Given the description of an element on the screen output the (x, y) to click on. 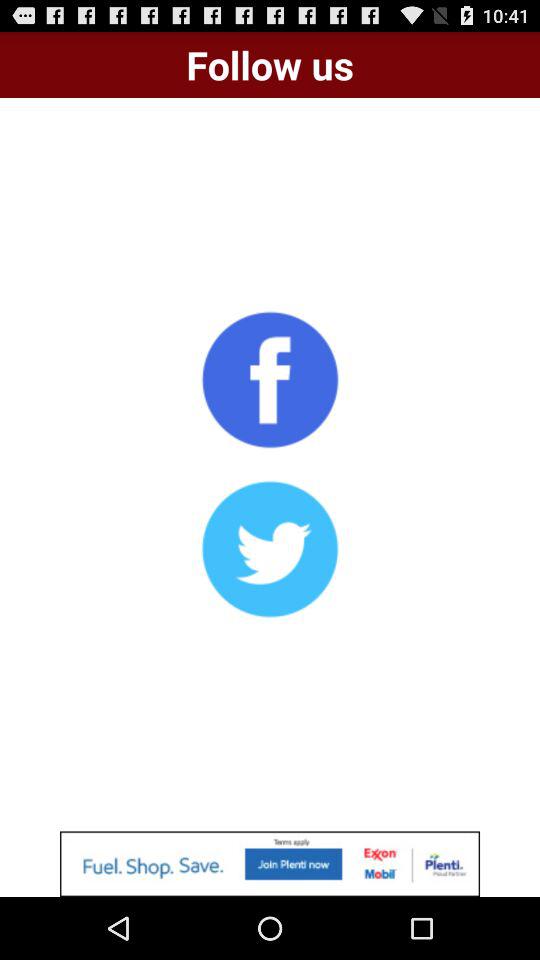
twitter (270, 549)
